Given the description of an element on the screen output the (x, y) to click on. 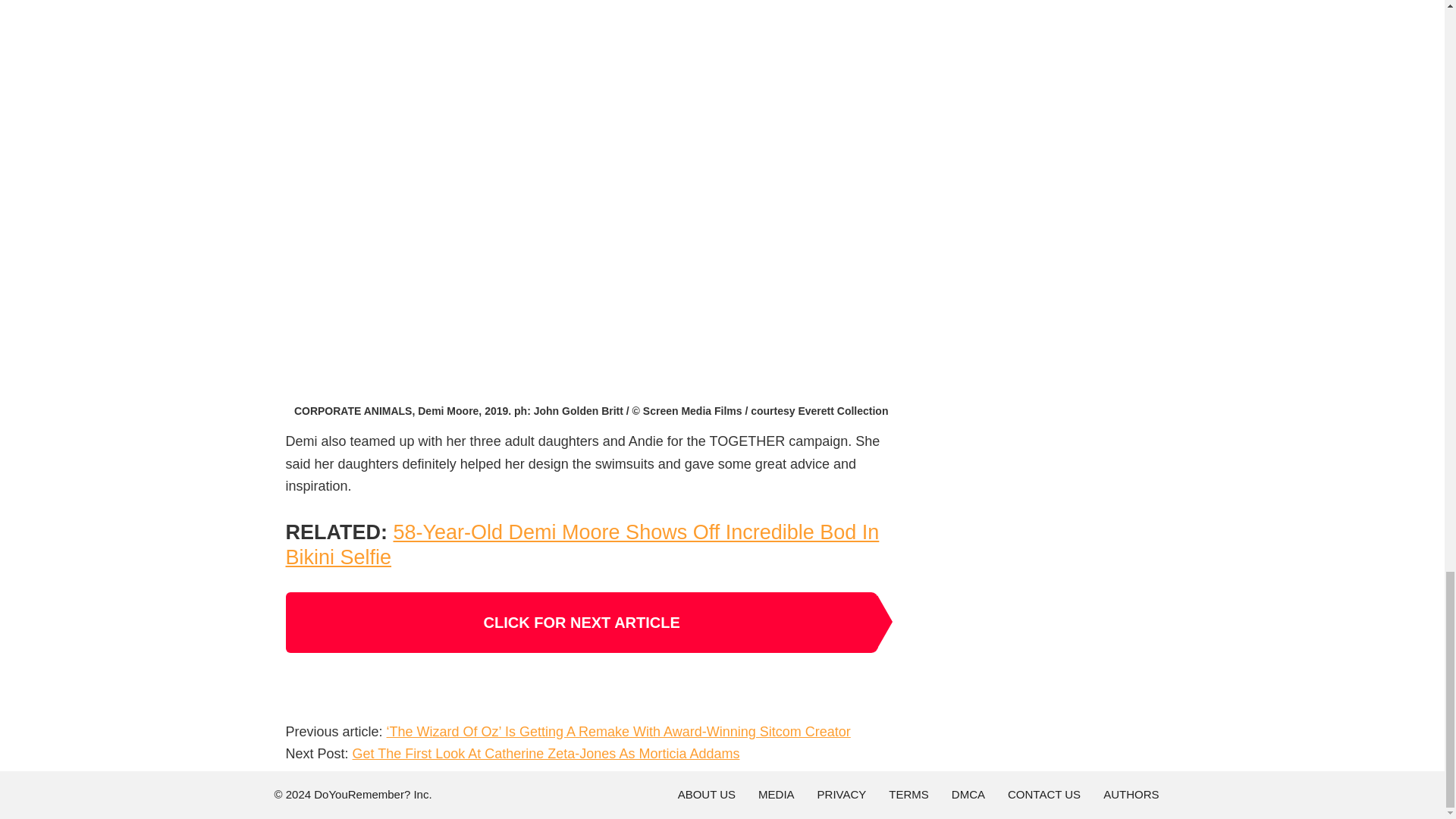
demi-moore (590, 3)
CLICK FOR NEXT ARTICLE (581, 622)
